Given the description of an element on the screen output the (x, y) to click on. 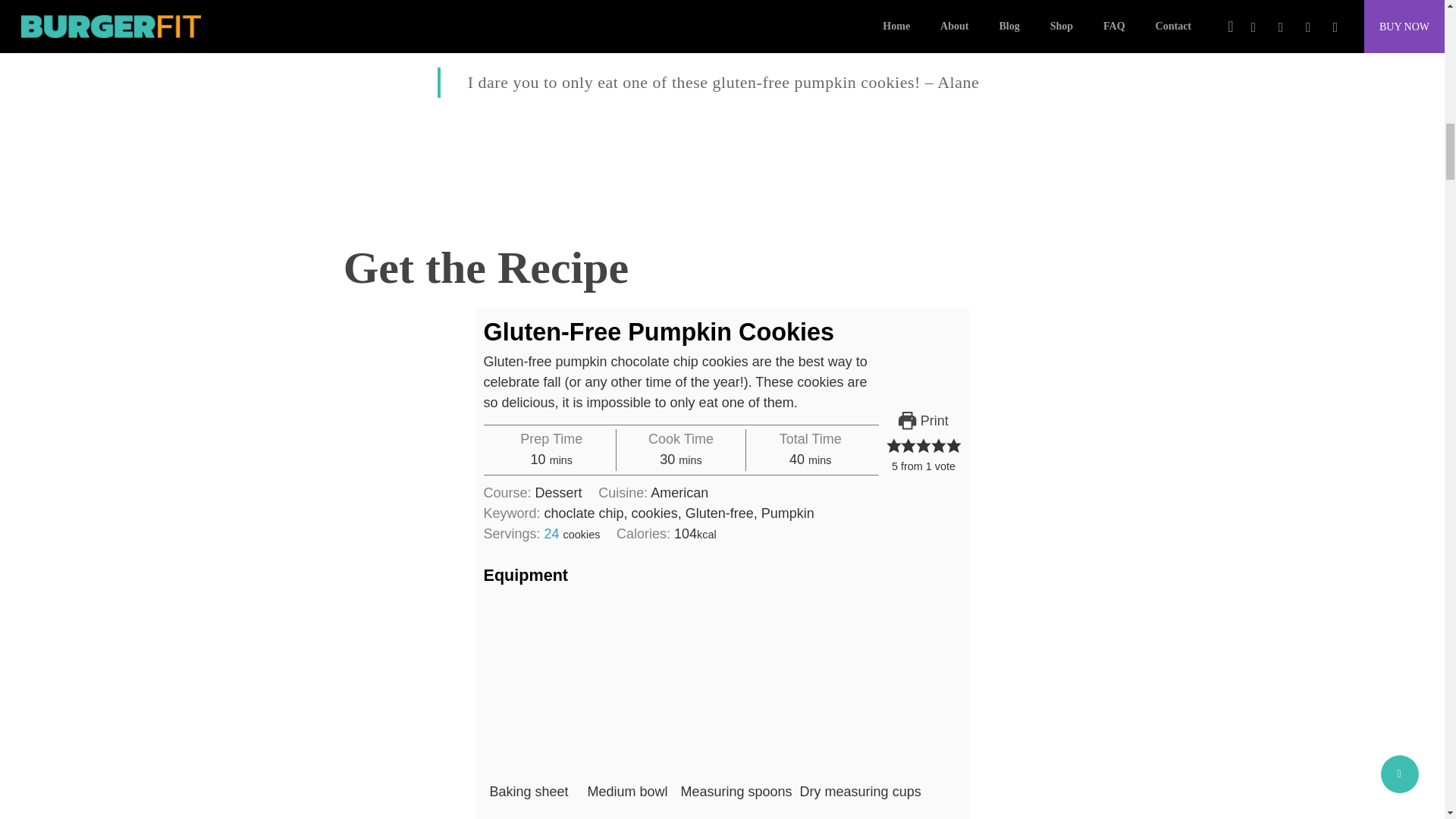
24 (551, 533)
Print (923, 421)
